Given the description of an element on the screen output the (x, y) to click on. 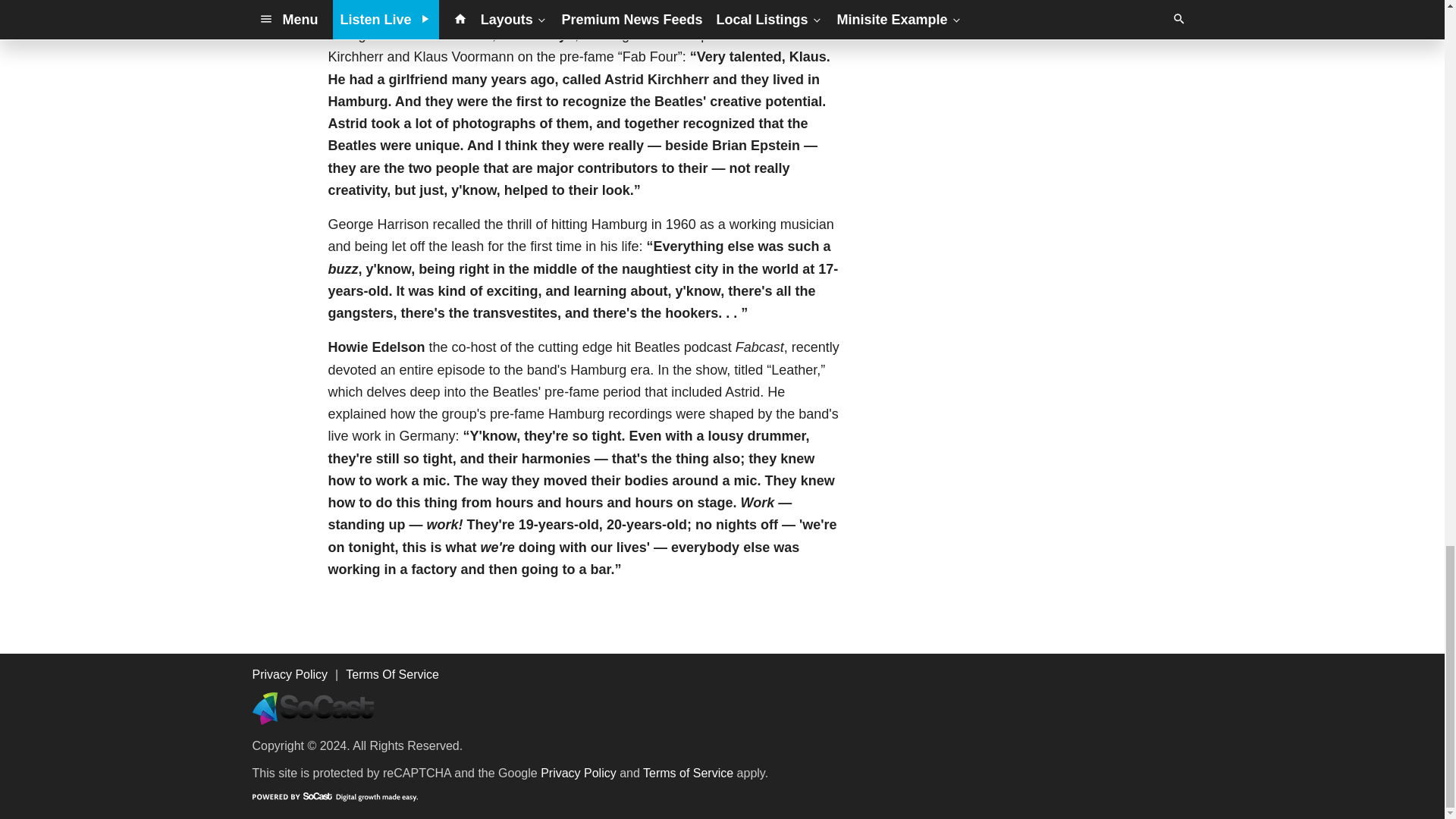
Powered By SoCast (333, 796)
